Given the description of an element on the screen output the (x, y) to click on. 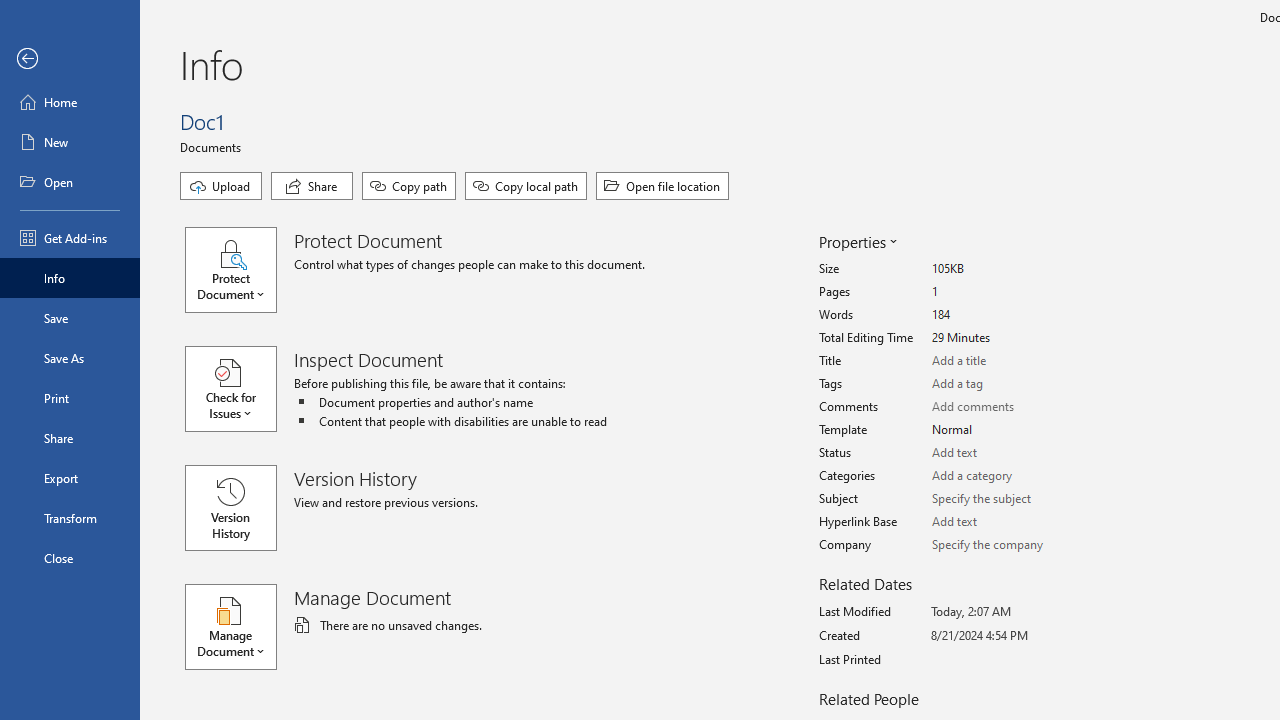
Info (69, 277)
Check for Issues (239, 389)
Share (69, 437)
Export (69, 477)
Transform (69, 517)
Share (312, 186)
Comments (1006, 407)
Save (69, 317)
Copy local path (525, 186)
Documents (213, 146)
Home (69, 101)
Protect Document (239, 269)
New (69, 141)
Status (1006, 453)
